Given the description of an element on the screen output the (x, y) to click on. 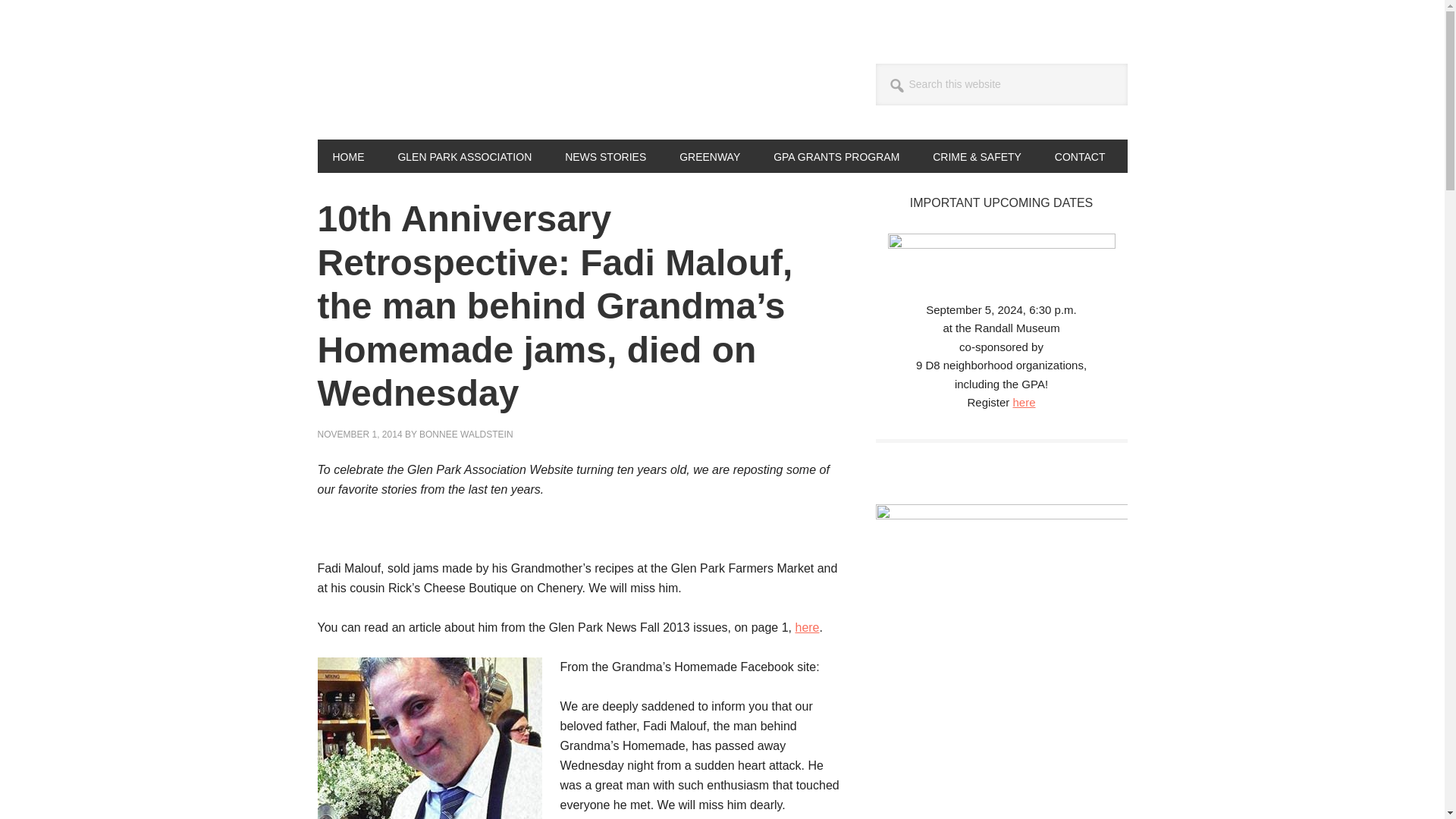
GPA GRANTS PROGRAM (836, 155)
here (1024, 401)
NEWS STORIES (605, 155)
BONNEE WALDSTEIN (466, 434)
GLEN PARK ASSOCIATION (464, 155)
here (806, 626)
GREENWAY (709, 155)
HOME (347, 155)
